Given the description of an element on the screen output the (x, y) to click on. 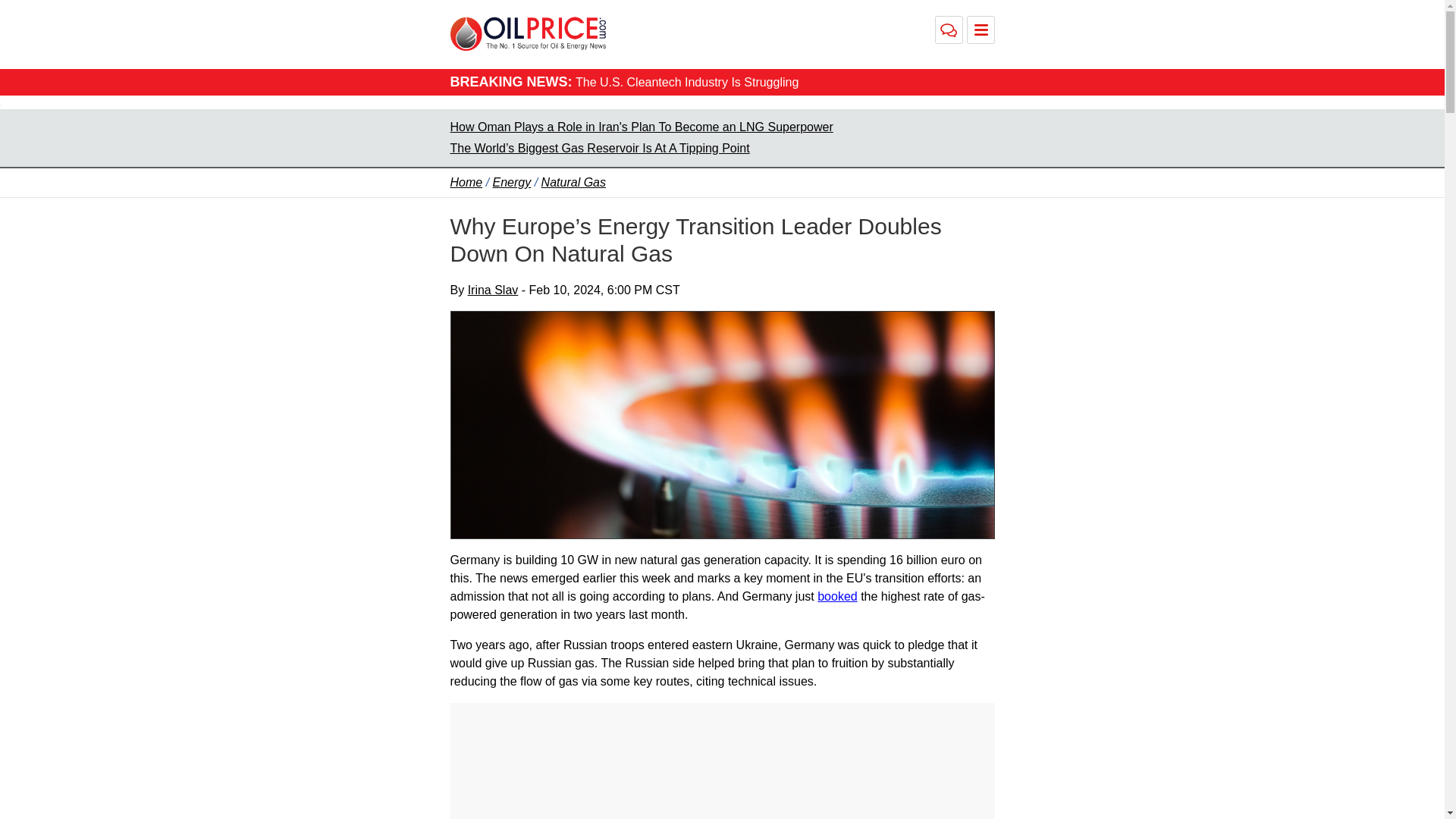
Home (466, 182)
Irina Slav (492, 289)
Energy (512, 182)
Natural Gas (573, 182)
The U.S. Cleantech Industry Is Struggling (686, 82)
booked (836, 595)
